Given the description of an element on the screen output the (x, y) to click on. 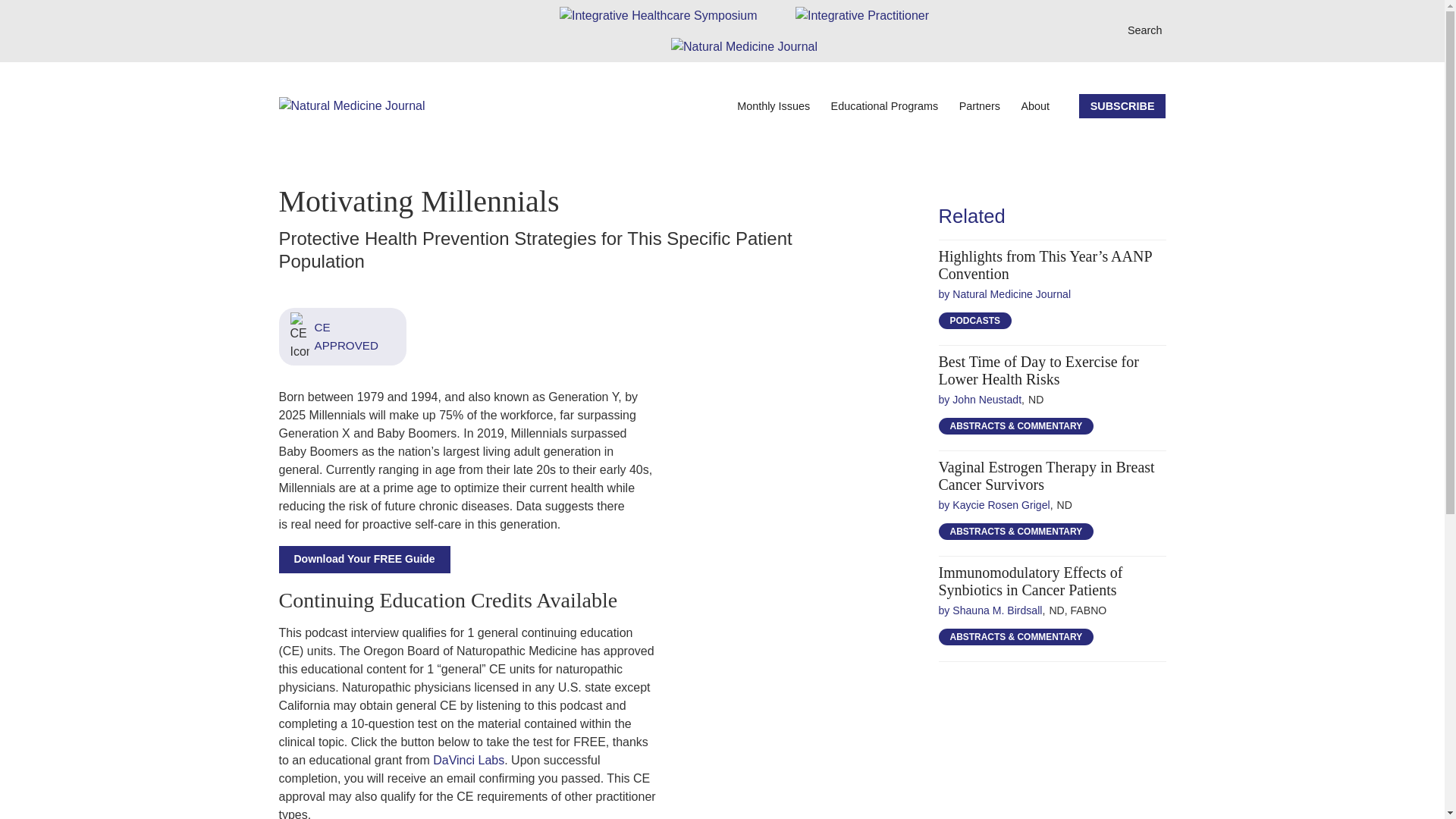
Kaycie Rosen Grigel (994, 504)
Partners (978, 105)
John Neustadt (980, 399)
Natural Medicine Journal (1005, 293)
Educational Programs (883, 105)
Search (1146, 30)
Shauna M. Birdsall (990, 609)
About (1032, 105)
Monthly Issues (771, 105)
